Given the description of an element on the screen output the (x, y) to click on. 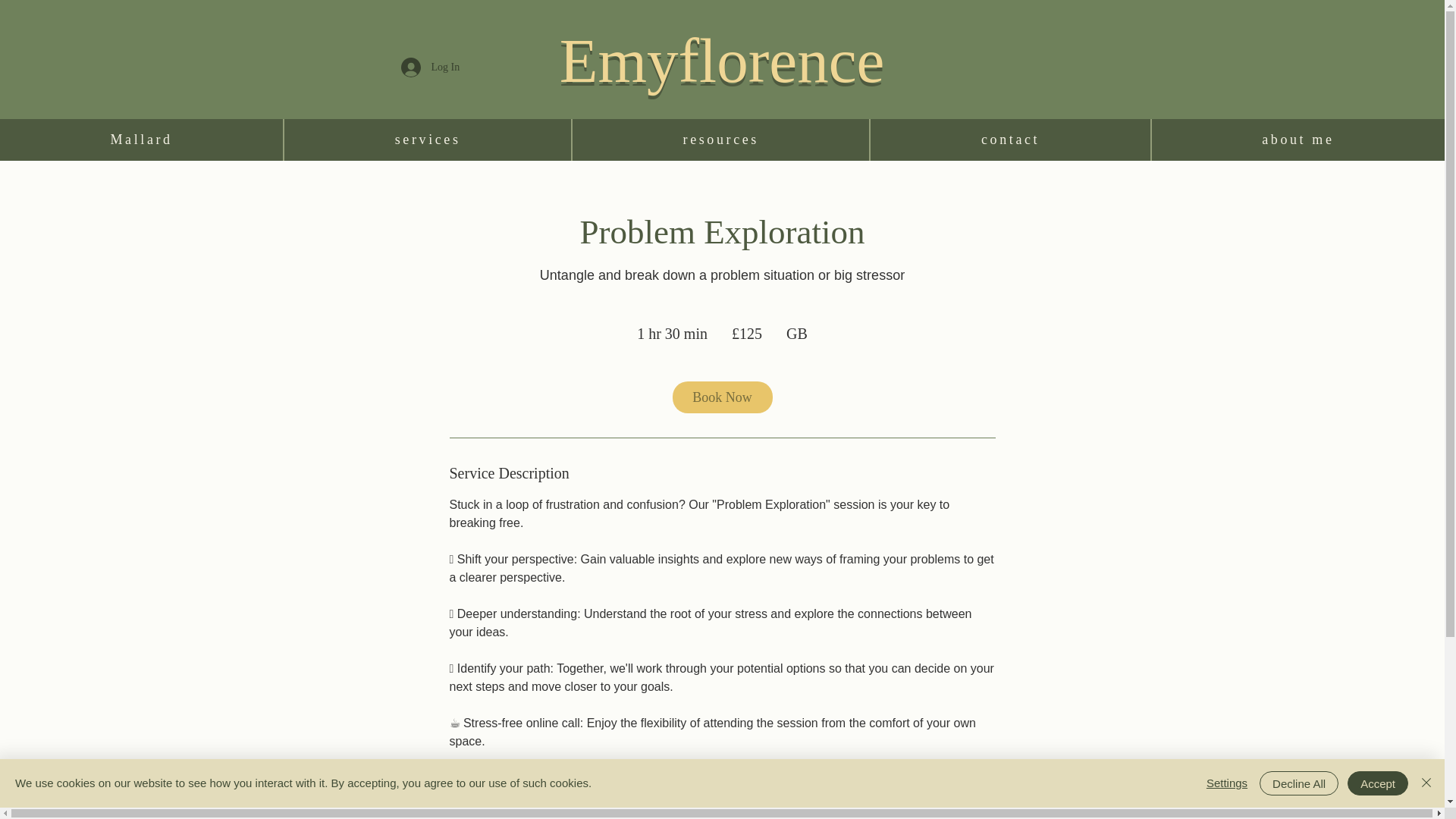
Emyflorence (722, 60)
Book Now (721, 397)
Decline All (1298, 783)
Log In (420, 67)
Accept (1377, 783)
contact (1010, 139)
about me (1297, 139)
